Given the description of an element on the screen output the (x, y) to click on. 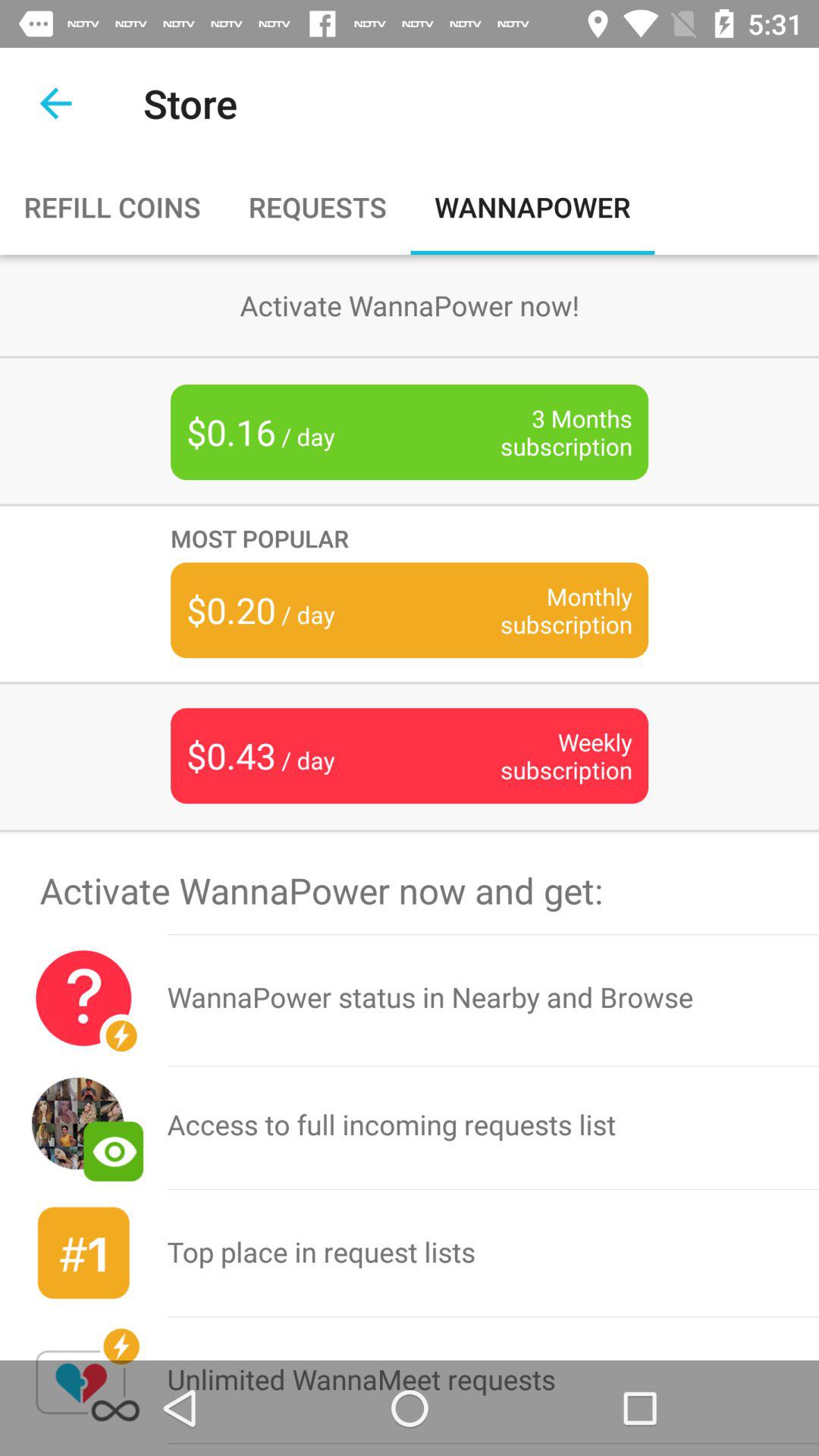
launch the icon below the 3 months subscription icon (409, 538)
